Given the description of an element on the screen output the (x, y) to click on. 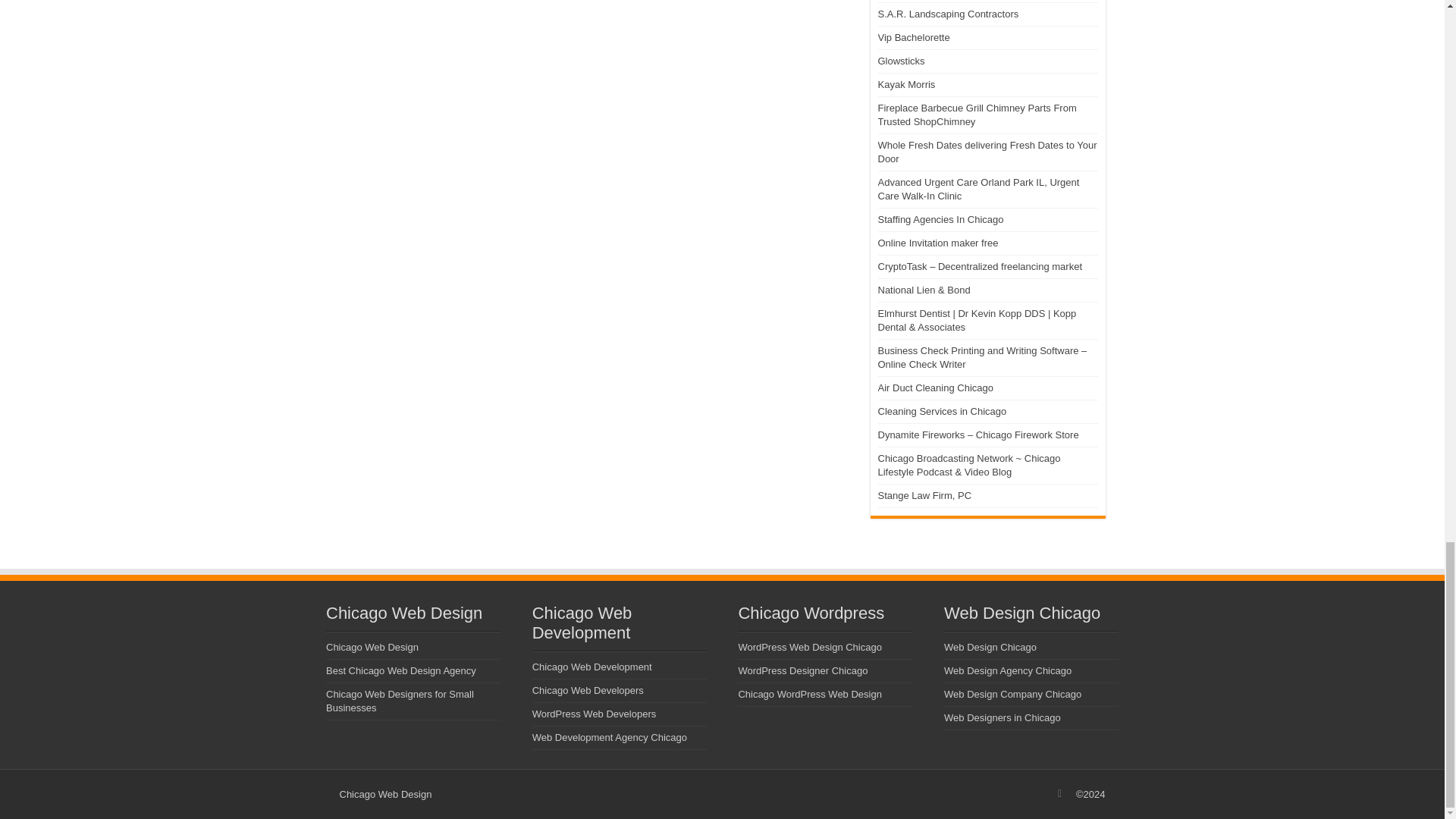
Chicago Website Designer (385, 794)
